Given the description of an element on the screen output the (x, y) to click on. 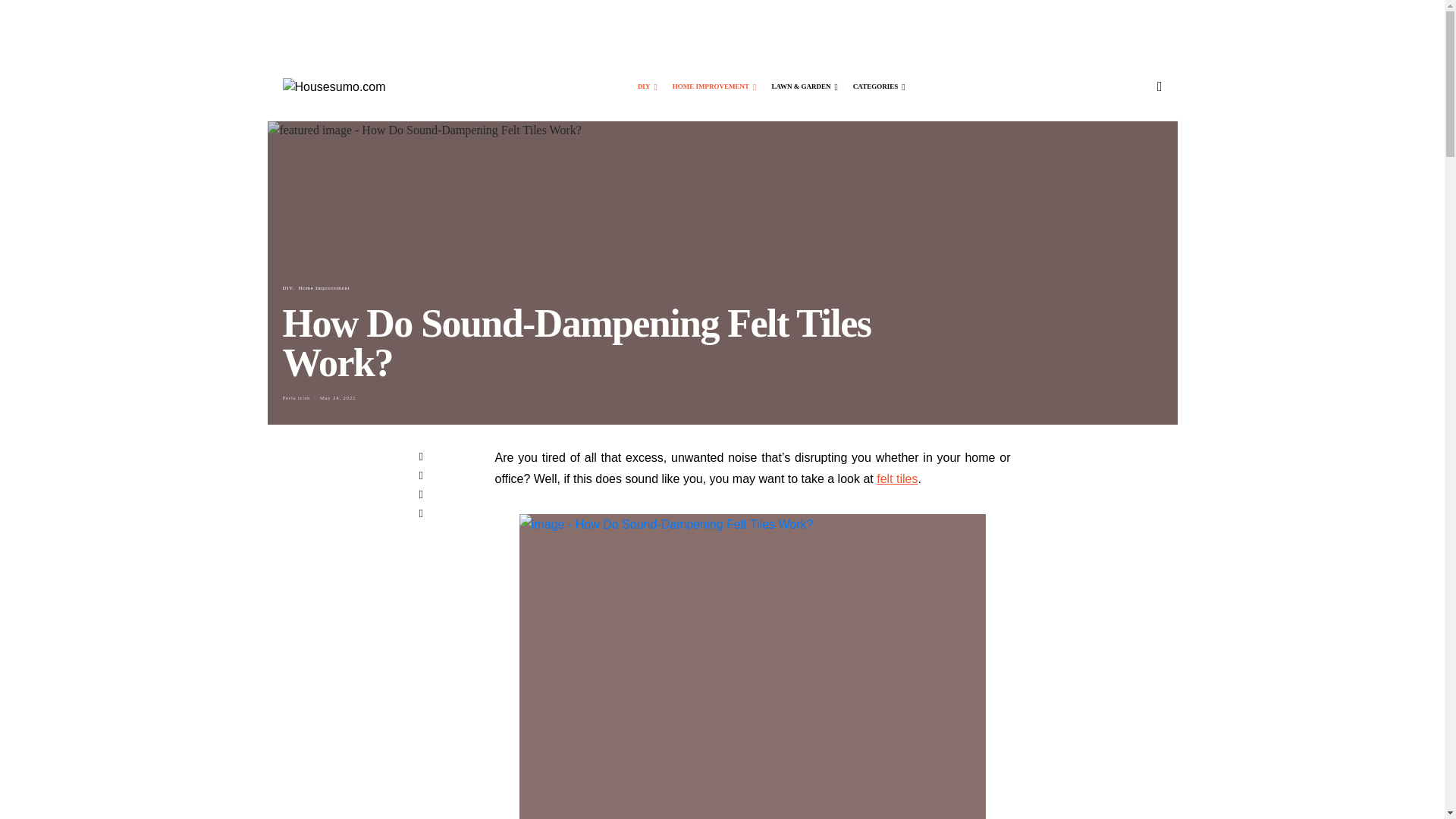
View all posts by Perla Irish (296, 396)
DIY (647, 86)
